Given the description of an element on the screen output the (x, y) to click on. 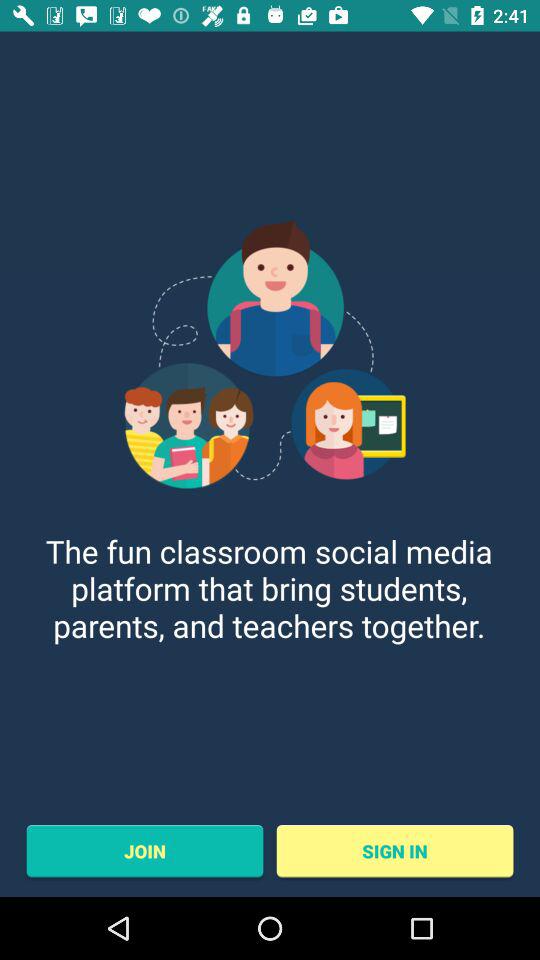
press the icon to the right of join icon (394, 851)
